Given the description of an element on the screen output the (x, y) to click on. 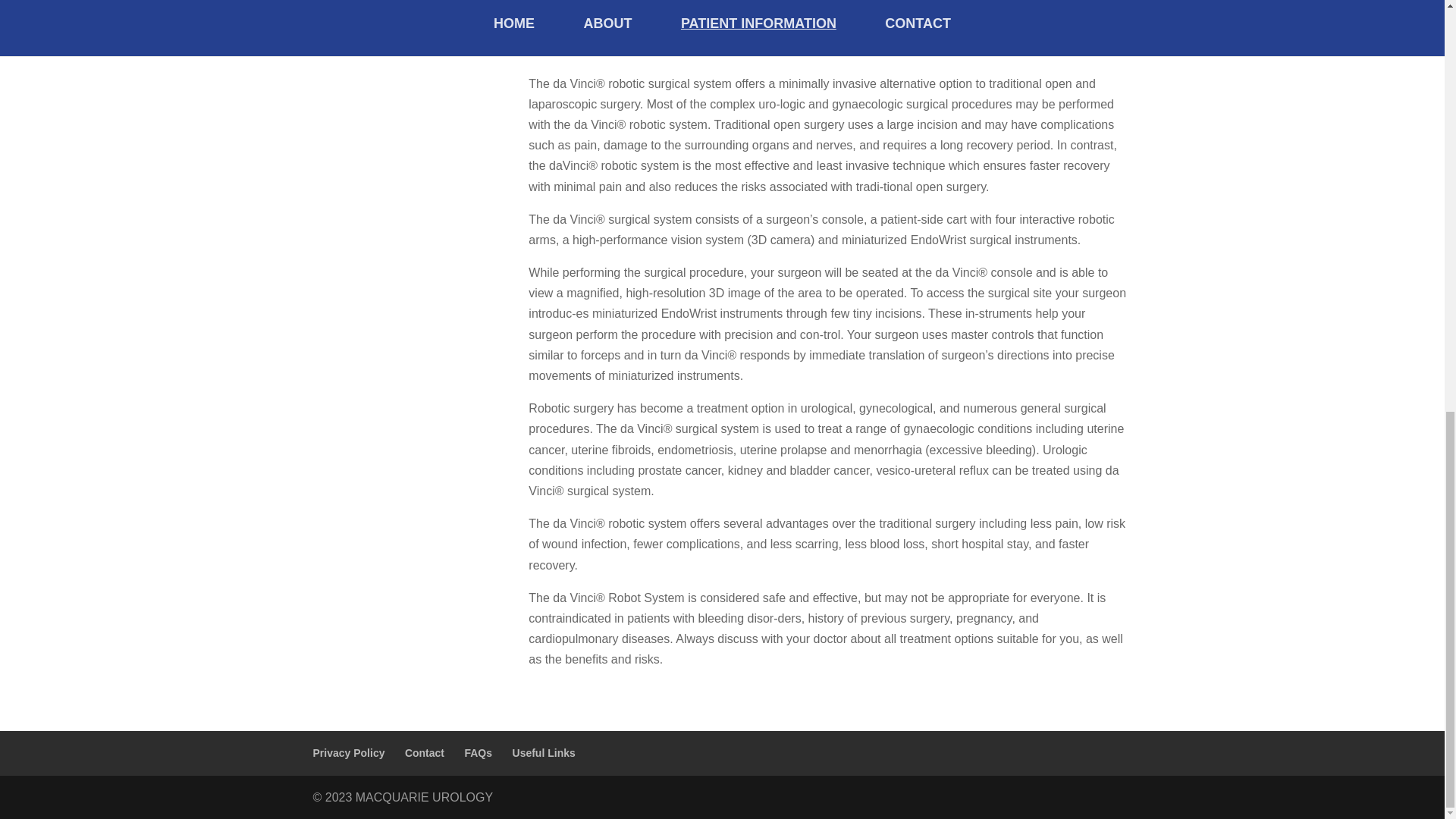
Privacy Policy (348, 752)
da Vinci Prostatectomy- Urology Associates of Denver (829, 11)
Useful Links (543, 752)
Contact (424, 752)
FAQs (478, 752)
